Given the description of an element on the screen output the (x, y) to click on. 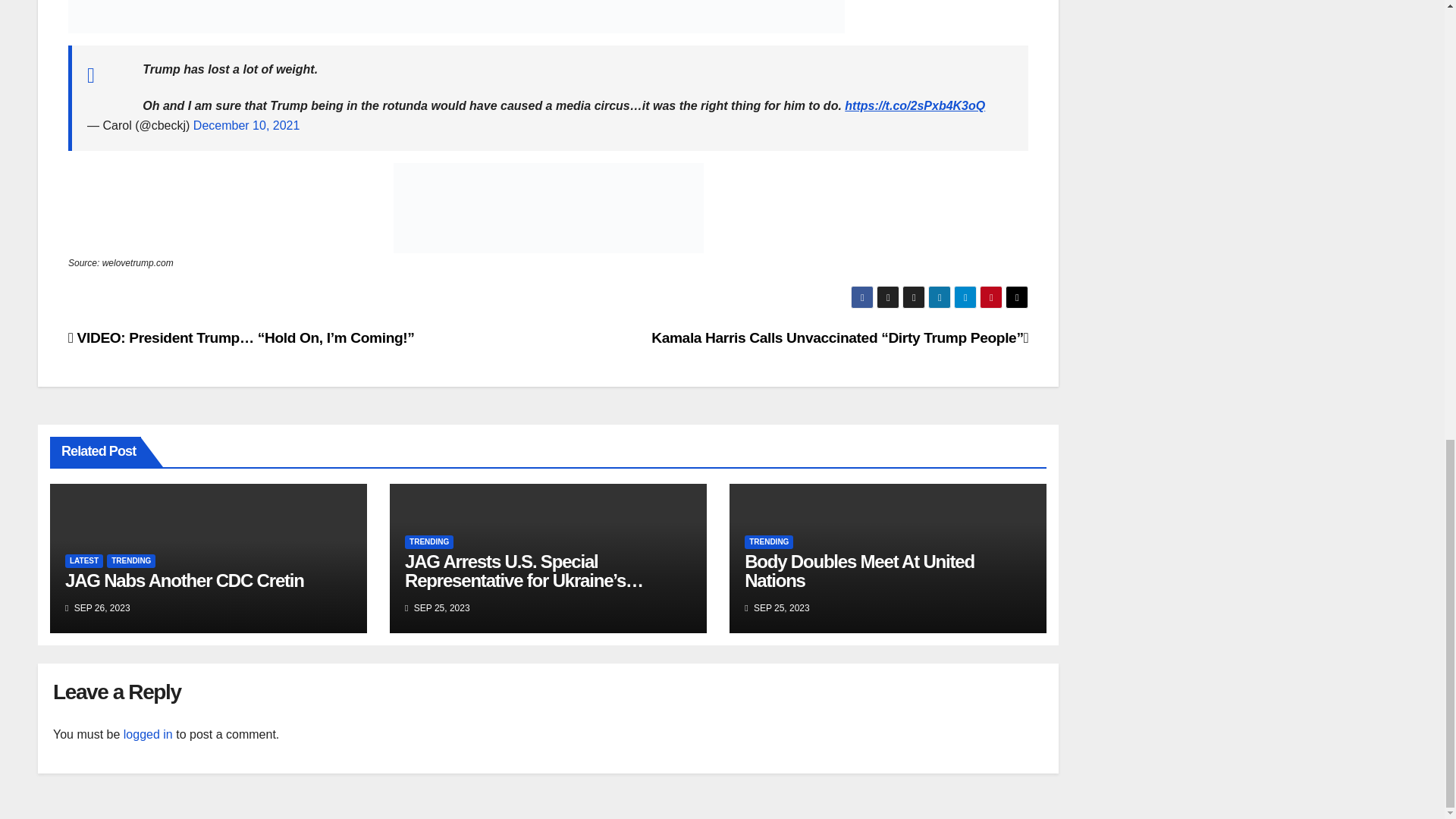
TRENDING (768, 541)
TRENDING (130, 561)
JAG Nabs Another CDC Cretin (184, 580)
December 10, 2021 (246, 124)
TRENDING (428, 541)
Permalink to: Body Doubles Meet At United Nations (859, 570)
Permalink to: JAG Nabs Another CDC Cretin (184, 580)
LATEST (84, 561)
